Given the description of an element on the screen output the (x, y) to click on. 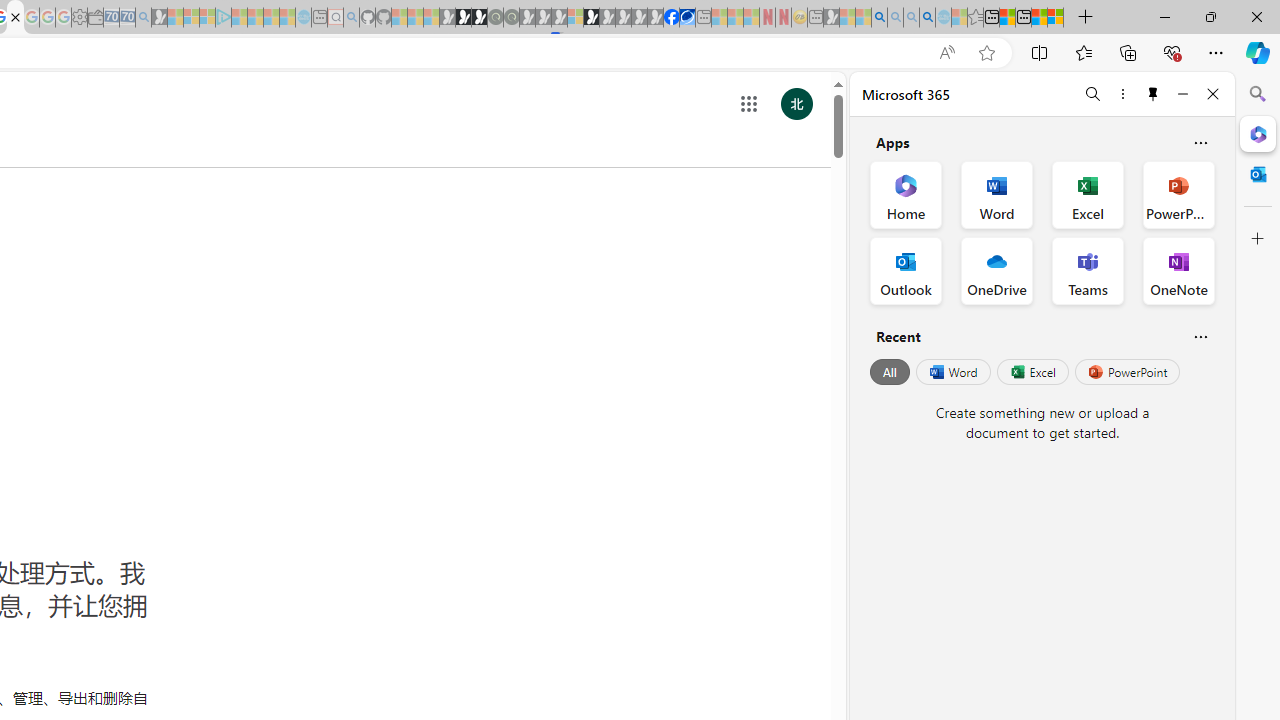
Excel (1031, 372)
Nordace | Facebook (671, 17)
MSN - Sleeping (831, 17)
Sign in to your account - Sleeping (575, 17)
